Given the description of an element on the screen output the (x, y) to click on. 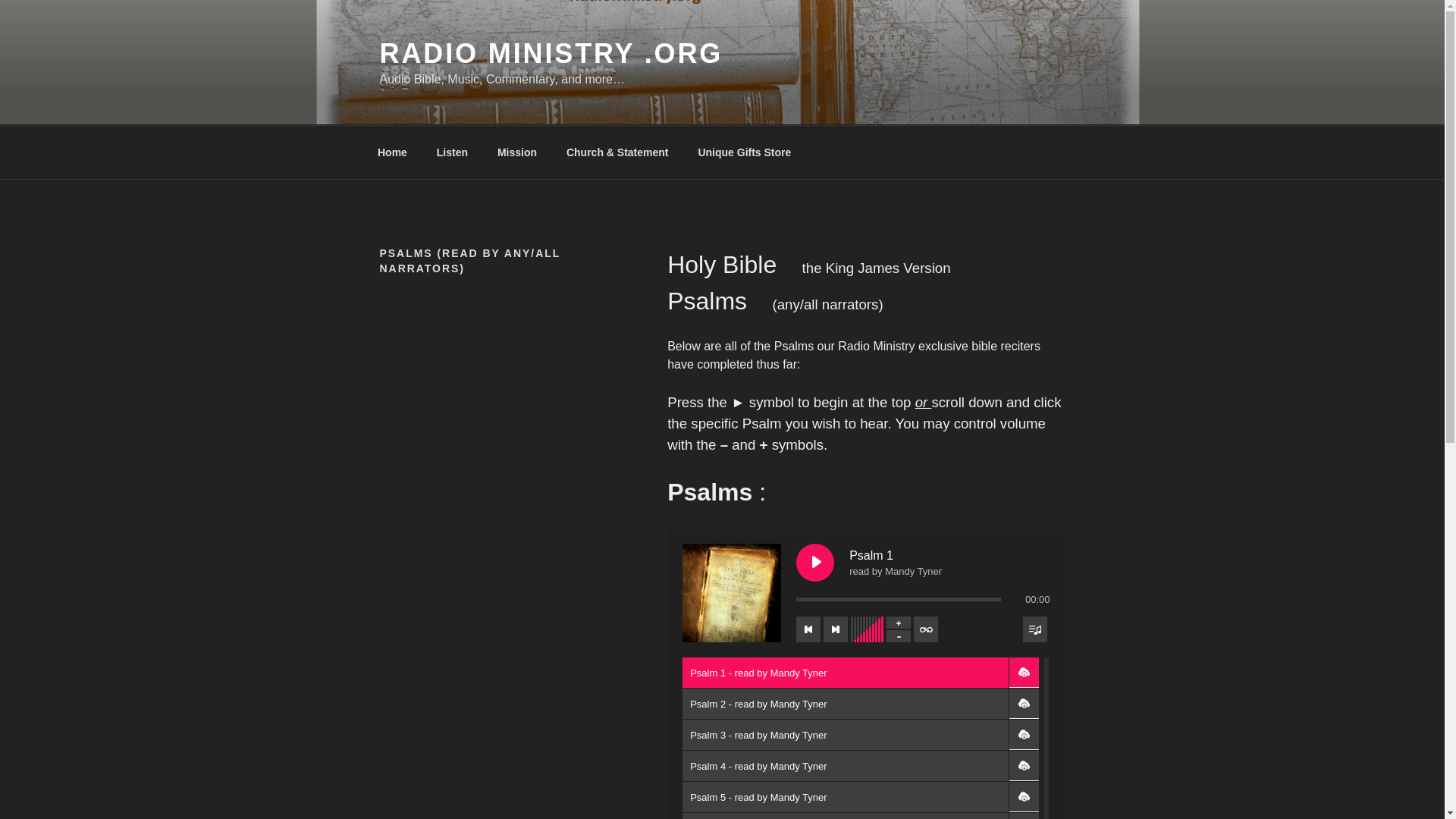
Unique Gifts Store (744, 151)
Download this track (1024, 766)
Download this track (1024, 816)
Mission (516, 151)
Download this track (1024, 672)
Download this track (1024, 703)
Home (392, 151)
Download this track (1024, 797)
Listen (451, 151)
Download this track (1024, 734)
RADIO MINISTRY .ORG (550, 52)
